Given the description of an element on the screen output the (x, y) to click on. 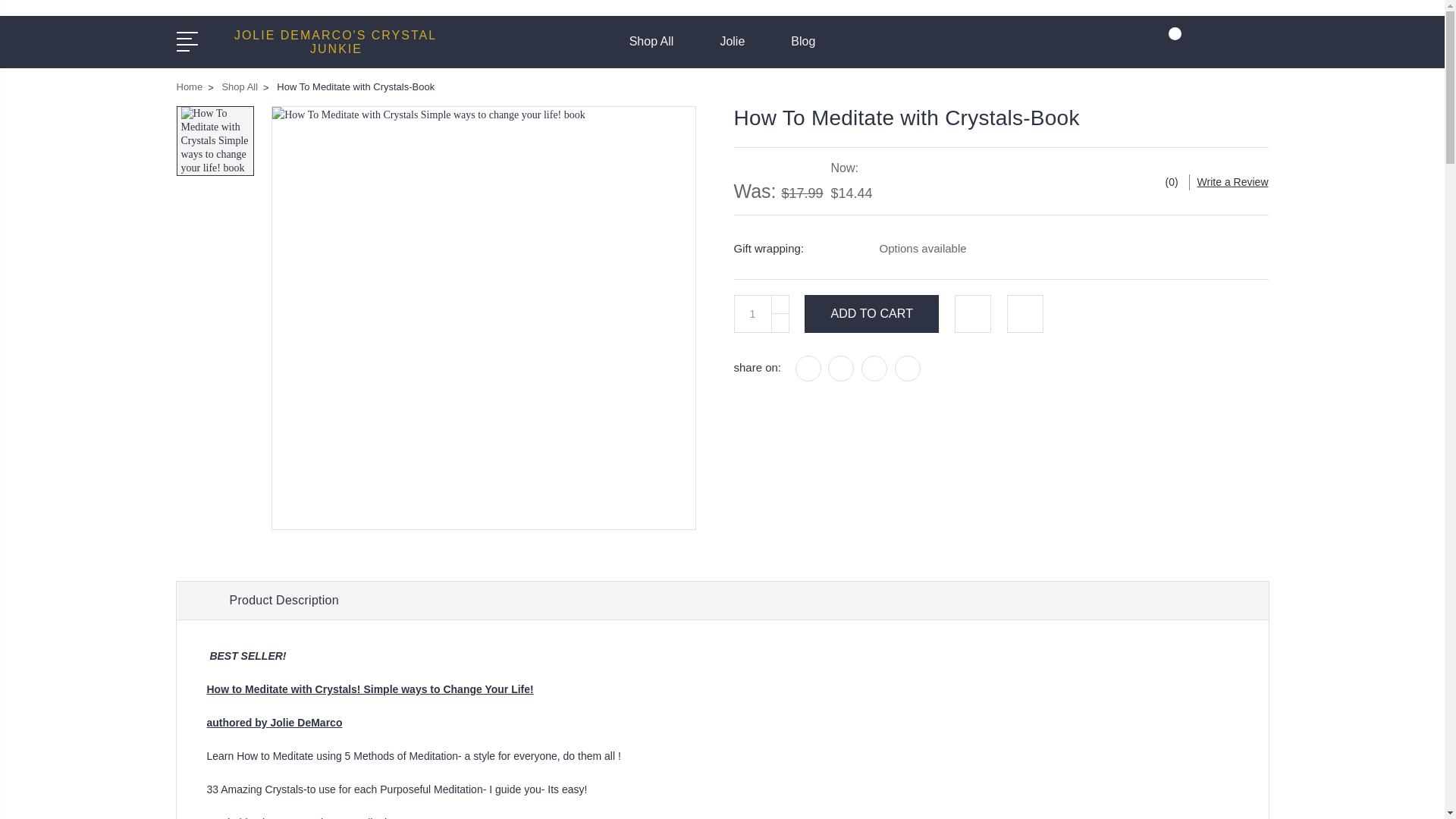
Add to Cart (872, 313)
Shop All (657, 50)
JOLIE DEMARCO'S CRYSTAL JUNKIE (334, 42)
1 (752, 313)
